Given the description of an element on the screen output the (x, y) to click on. 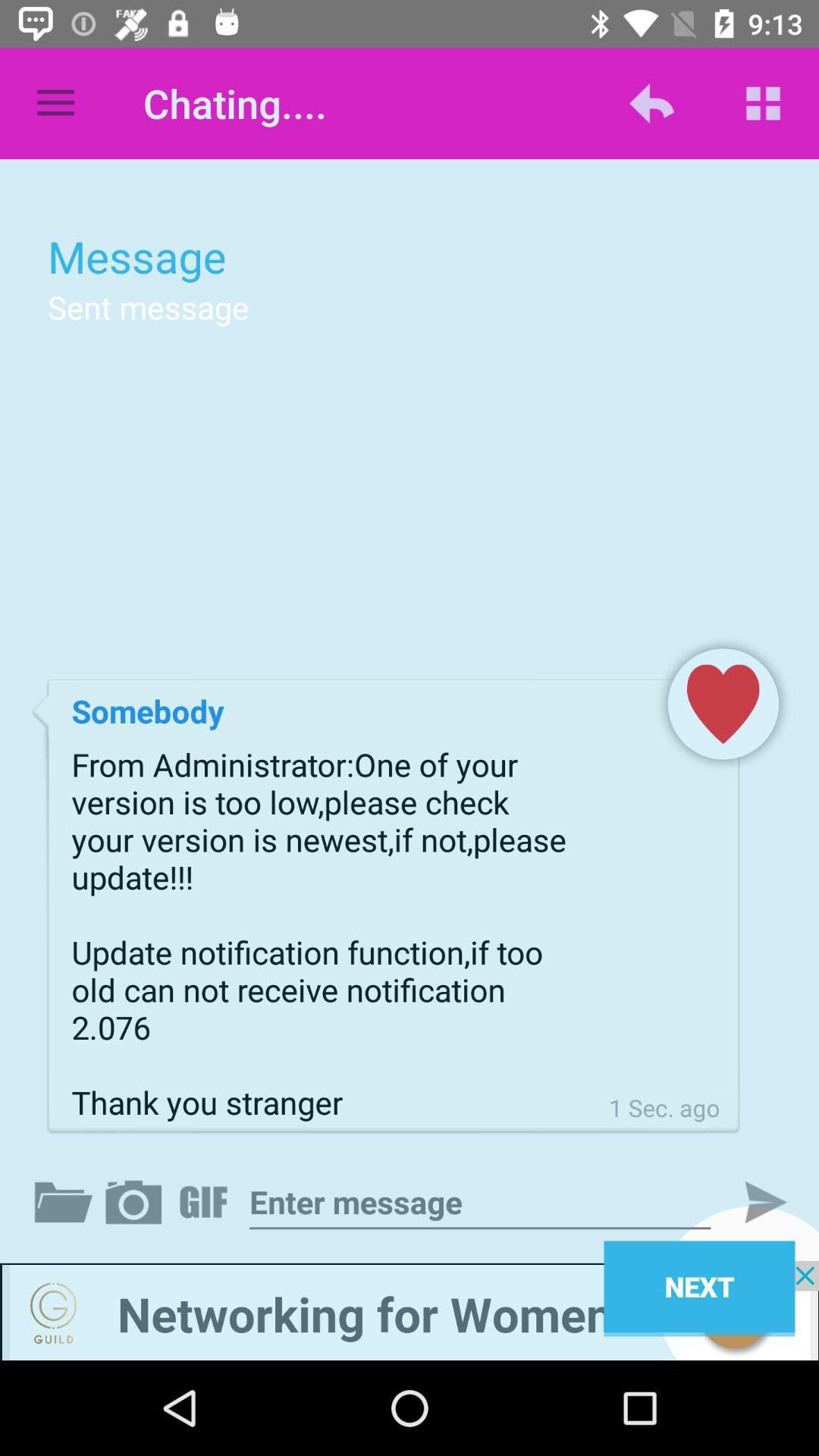
gif menu (206, 1202)
